Given the description of an element on the screen output the (x, y) to click on. 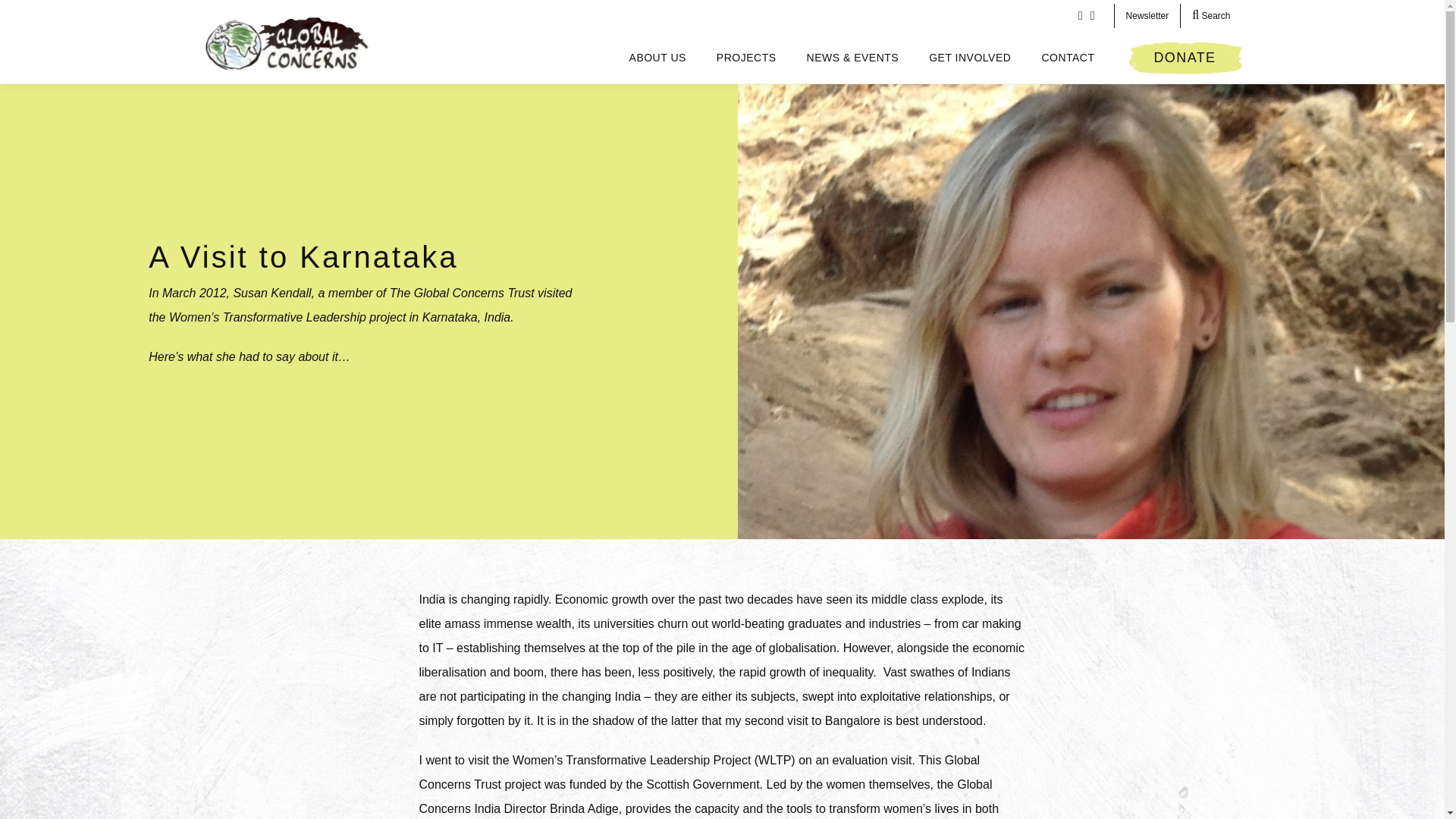
PROJECTS (746, 56)
Search (1211, 15)
Newsletter (1147, 15)
ABOUT US (657, 56)
CONTACT (1067, 56)
GET INVOLVED (970, 56)
DONATE (1184, 57)
